Given the description of an element on the screen output the (x, y) to click on. 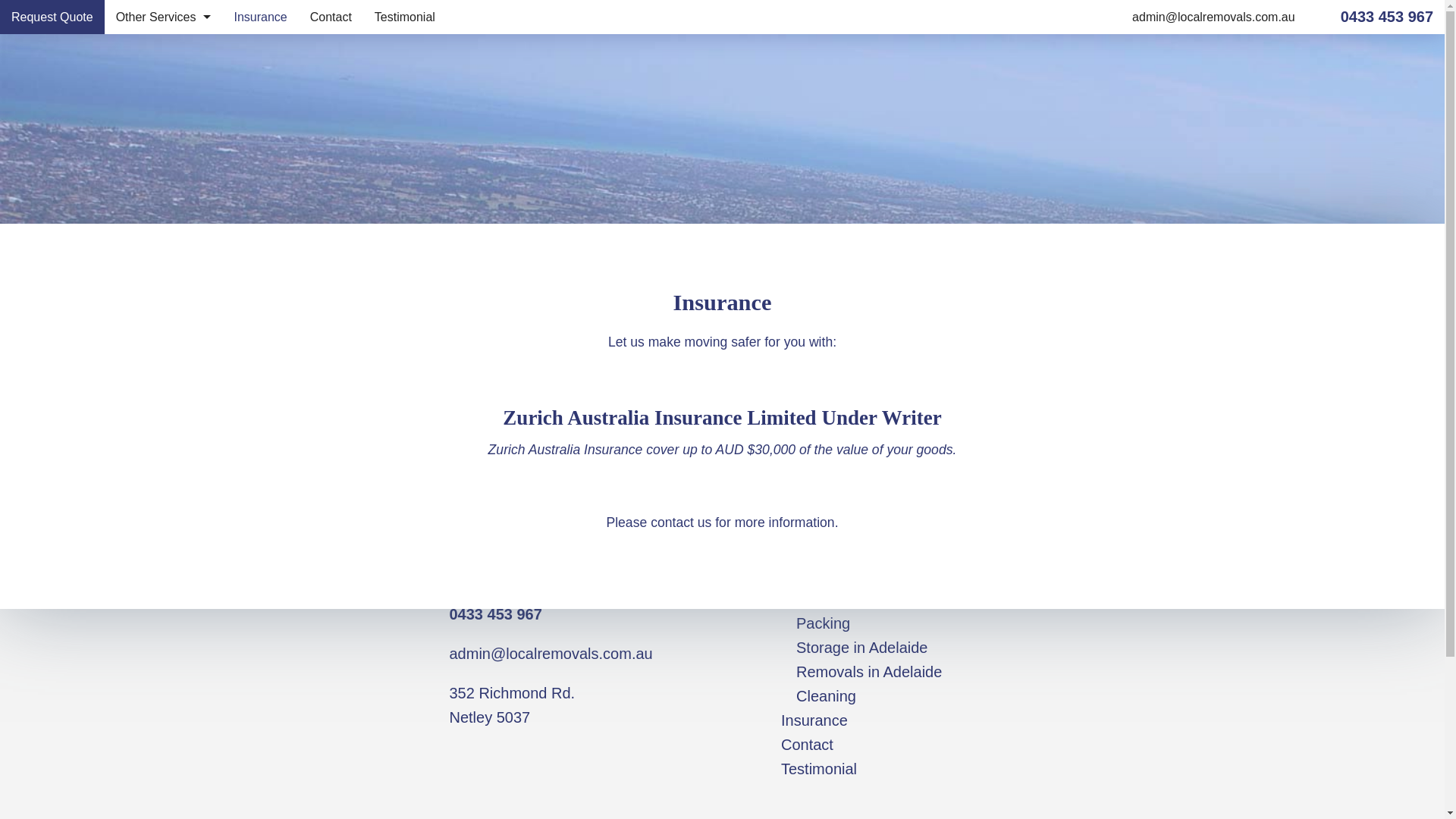
Insurance Element type: text (260, 17)
Cleaning Element type: text (826, 695)
0433 453 967 Element type: text (1386, 16)
Other Services Element type: text (831, 574)
Contact Element type: text (330, 17)
Storage in Adelaide Element type: text (861, 647)
Testimonial Element type: text (404, 17)
Boxes Element type: text (817, 598)
Testimonial Element type: text (818, 768)
0433 453 967 Element type: text (722, 488)
Insurance Element type: text (814, 720)
Packing Element type: text (823, 623)
Request Quote Element type: text (52, 17)
Storage in Adelaide Element type: text (163, 119)
Other Services Element type: text (163, 17)
Request Quote Element type: text (832, 550)
Removals in Adelaide Element type: text (868, 671)
Removals in Adelaide Element type: text (163, 153)
Contact Element type: text (807, 744)
contact us Element type: text (680, 522)
Cleaning Element type: text (163, 187)
admin@localremovals.com.au Element type: text (550, 653)
admin@localremovals.com.au Element type: text (1213, 17)
Packing Element type: text (163, 85)
Boxes Element type: text (163, 51)
